Given the description of an element on the screen output the (x, y) to click on. 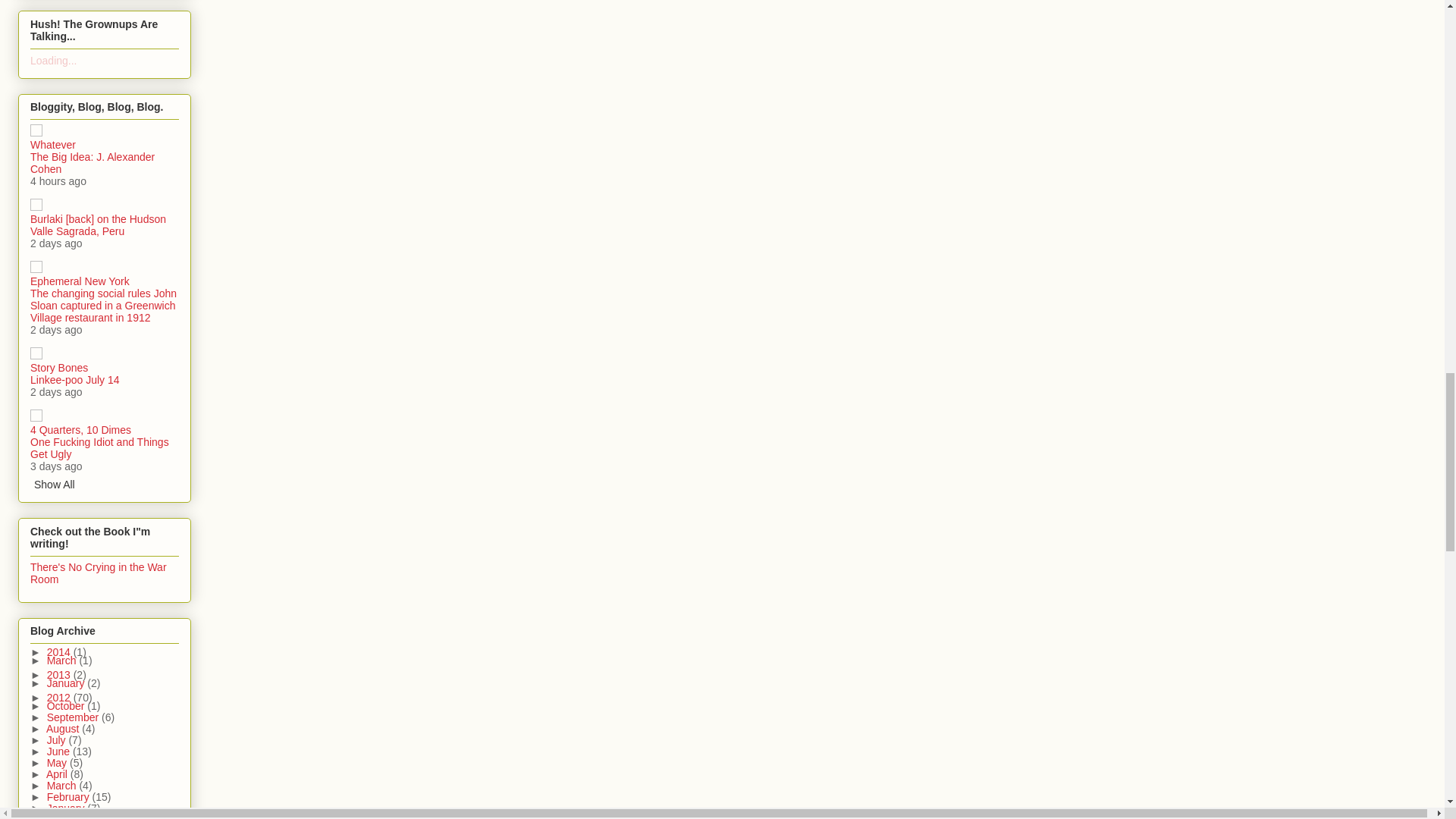
Whatever (52, 144)
The Big Idea: J. Alexander Cohen (92, 162)
Loading... (53, 60)
